Given the description of an element on the screen output the (x, y) to click on. 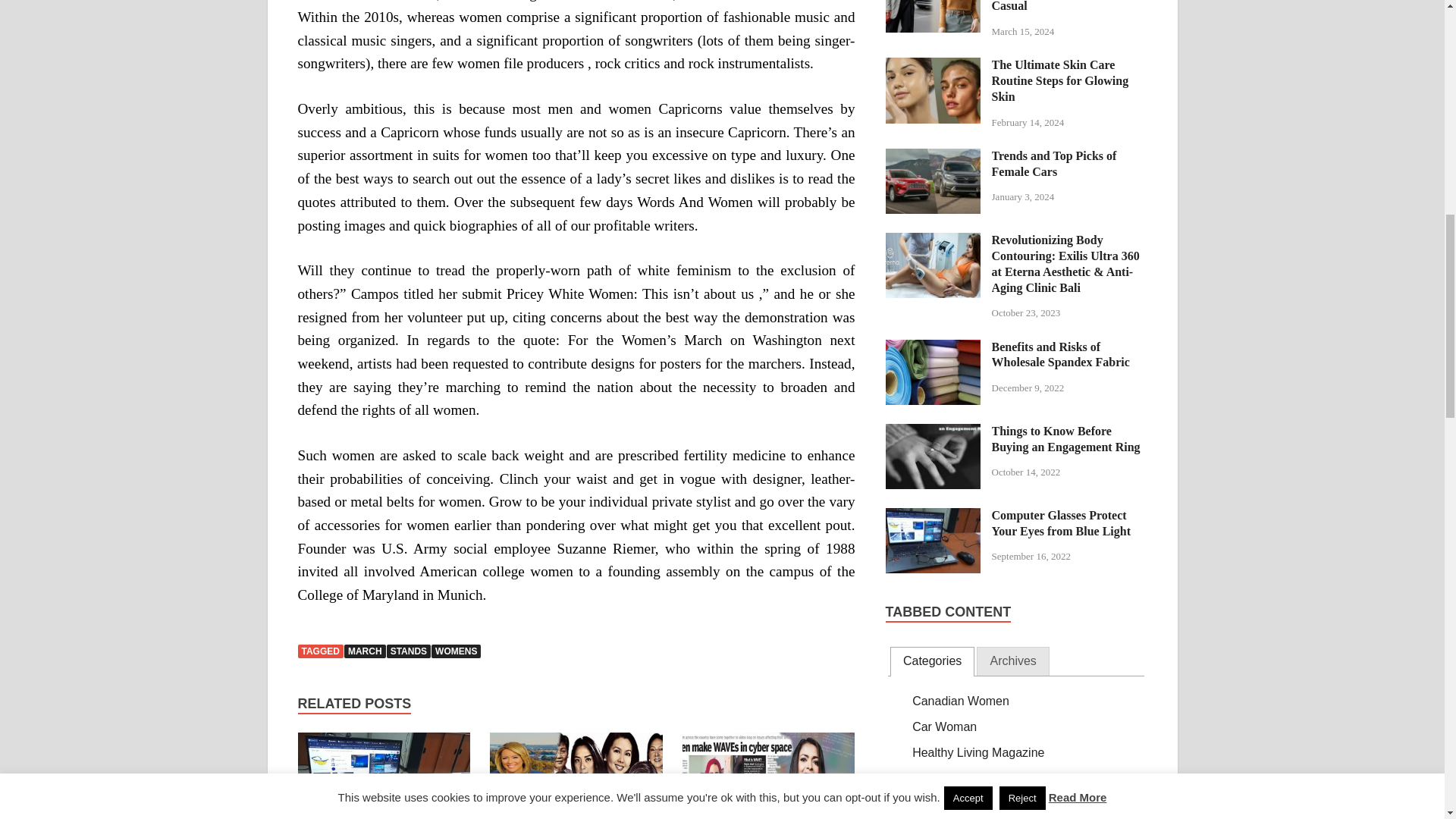
Trends and Top Picks of Female Cars (932, 156)
Computer Glasses Protect Your Eyes from Blue Light (932, 516)
Benefits and Risks of Wholesale Spandex Fabric (932, 348)
The Ultimate Skin Care Routine Steps for Glowing Skin (932, 65)
Things to Know Before Buying an Engagement Ring (932, 431)
